Given the description of an element on the screen output the (x, y) to click on. 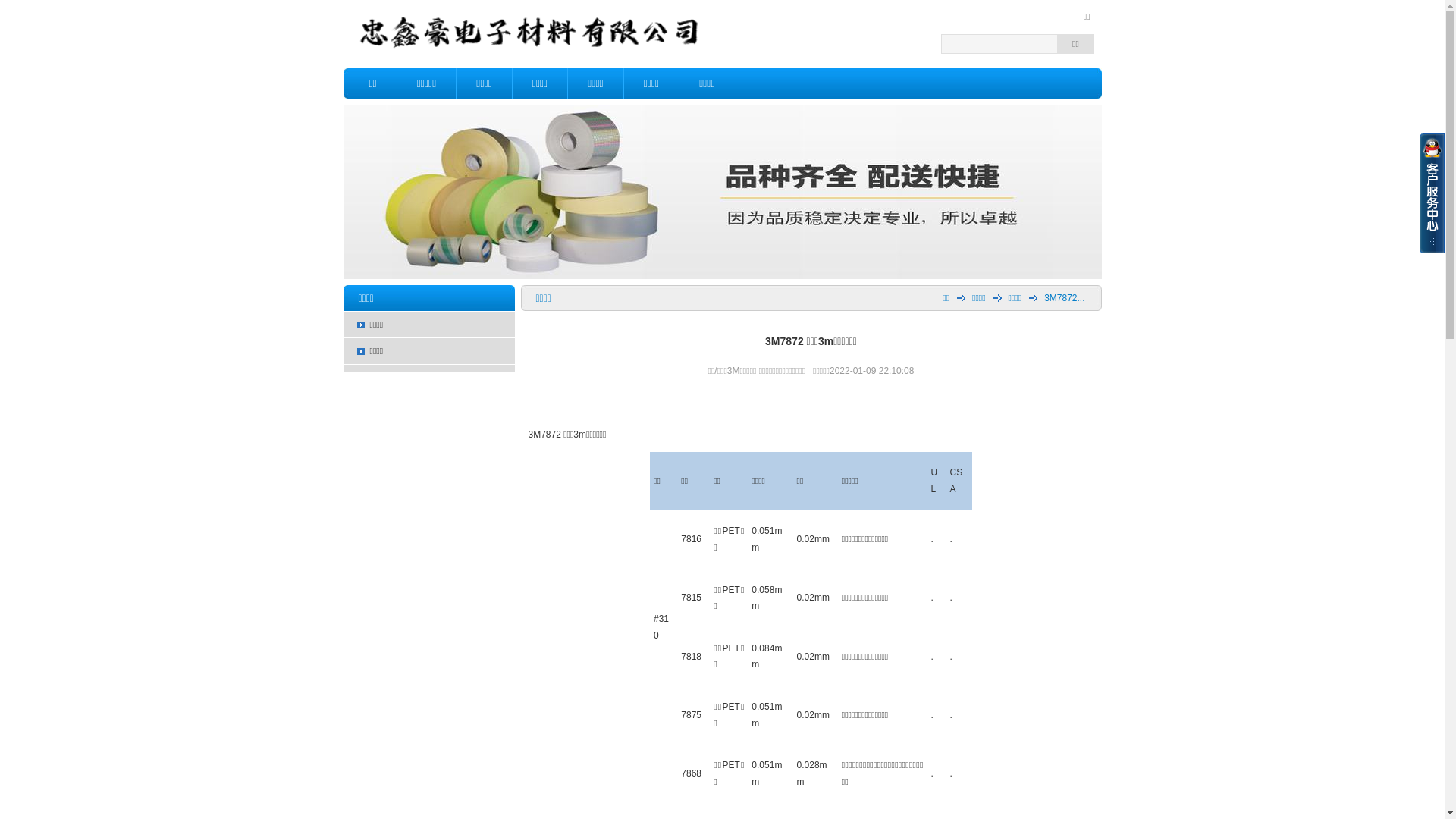
3M7872... Element type: text (1056, 297)
